Given the description of an element on the screen output the (x, y) to click on. 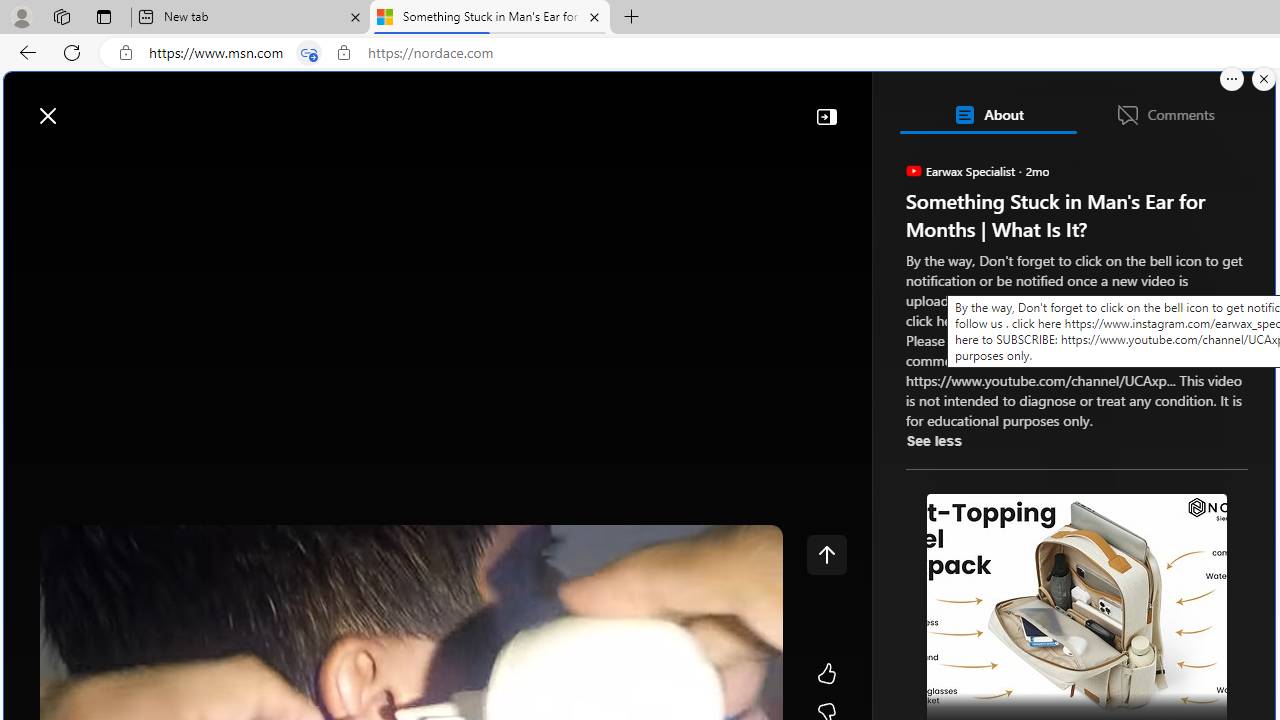
Earwax Specialist (912, 170)
ABC News (974, 557)
Personal Profile (21, 16)
Ad (963, 439)
Compact and Stylish (1084, 386)
Watch (249, 162)
View site information (343, 53)
More options. (1232, 79)
About (987, 114)
Compact and Stylish (1084, 288)
Nordace.com (1016, 439)
Class: control icon-only (826, 554)
Microsoft Start (94, 105)
The Associated Press (974, 645)
